Given the description of an element on the screen output the (x, y) to click on. 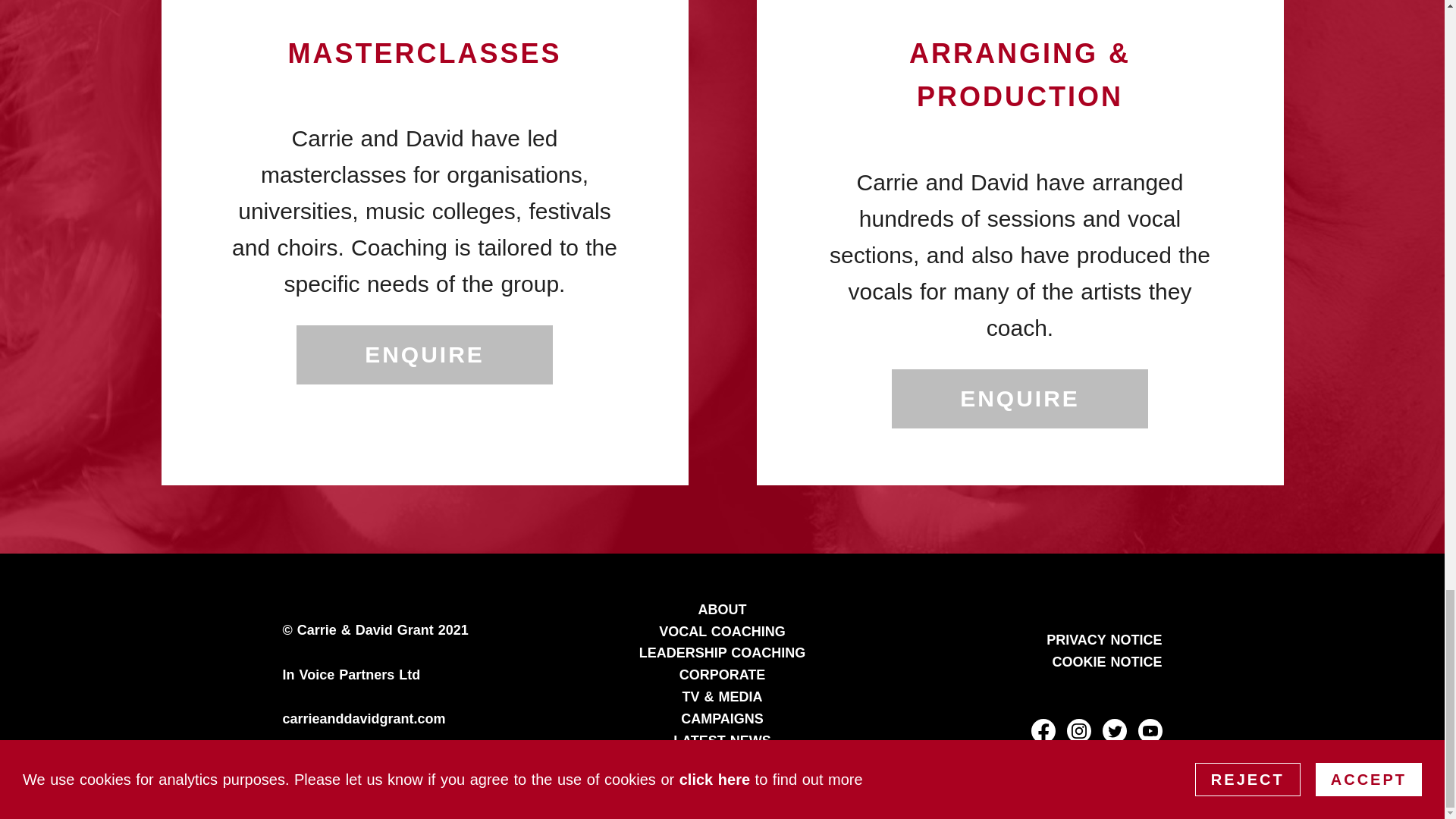
LEADERSHIP COACHING (722, 652)
PRIVACY NOTICE (1103, 640)
ENQUIRE (1019, 398)
VOCAL COACHING (722, 631)
CAMPAIGNS (721, 718)
ABOUT (721, 609)
ENQUIRE (425, 354)
CORPORATE (722, 674)
LATEST NEWS (721, 740)
COOKIE NOTICE (1106, 662)
CONTACT (721, 761)
